Given the description of an element on the screen output the (x, y) to click on. 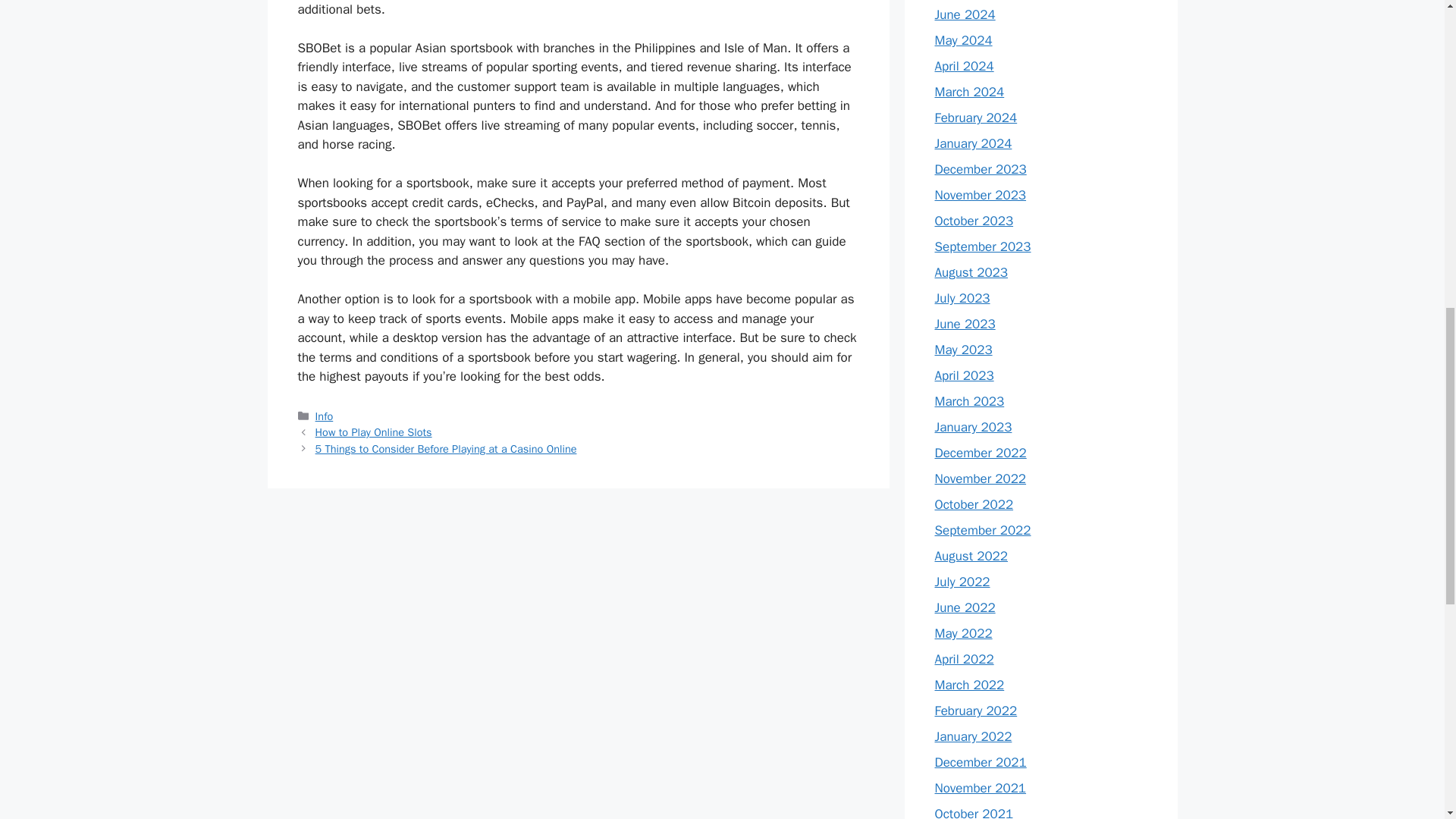
February 2024 (975, 117)
December 2022 (980, 453)
April 2023 (963, 375)
March 2023 (969, 401)
July 2023 (962, 298)
June 2023 (964, 324)
October 2022 (973, 504)
August 2022 (970, 555)
December 2023 (980, 169)
October 2023 (973, 220)
March 2024 (969, 91)
November 2023 (980, 195)
April 2024 (963, 66)
September 2022 (982, 530)
September 2023 (982, 246)
